Given the description of an element on the screen output the (x, y) to click on. 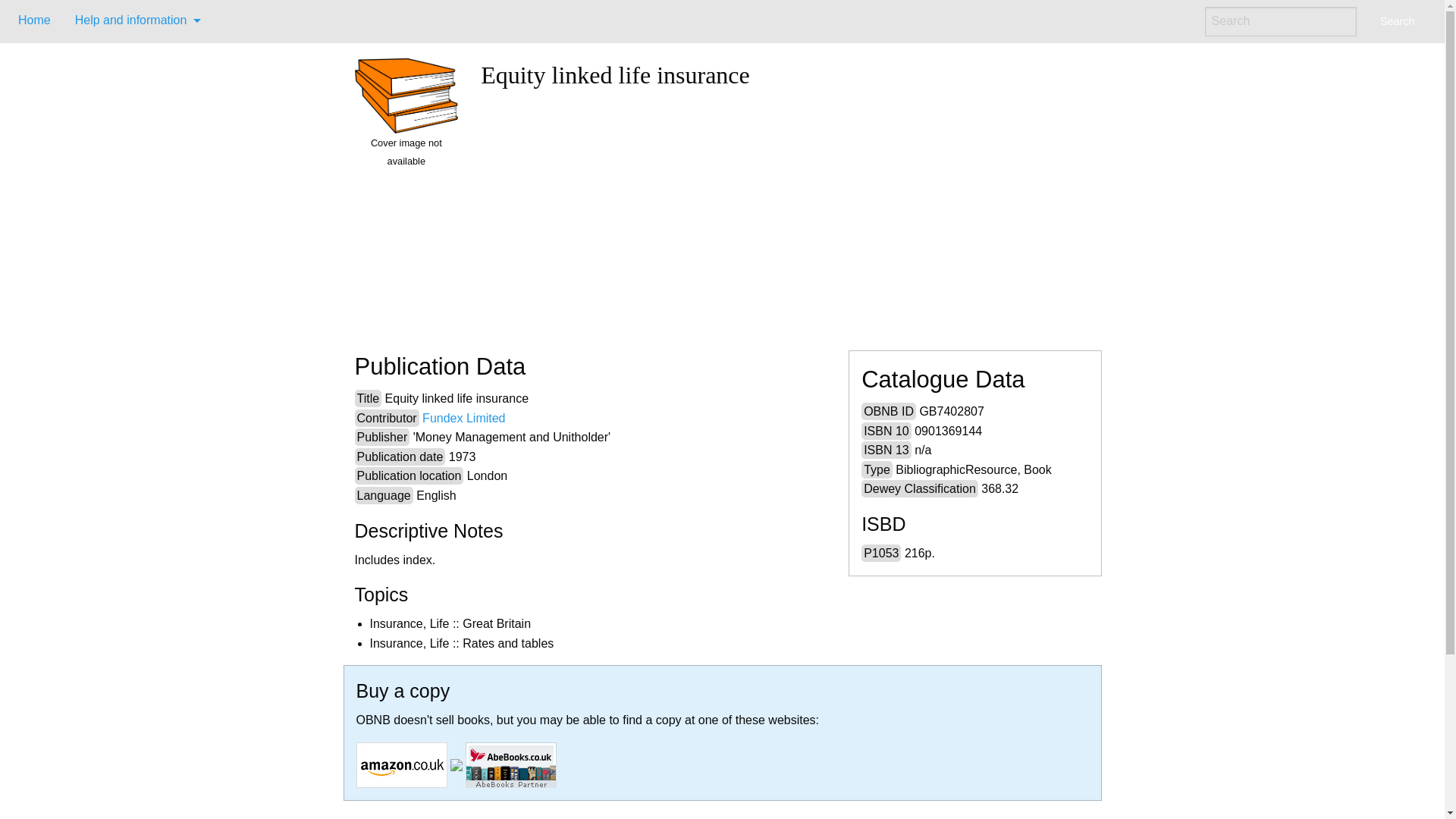
Search (1397, 20)
Help and information (133, 20)
Advertisement (784, 213)
Fundex Limited (463, 418)
Search (1397, 20)
Home (33, 20)
